Given the description of an element on the screen output the (x, y) to click on. 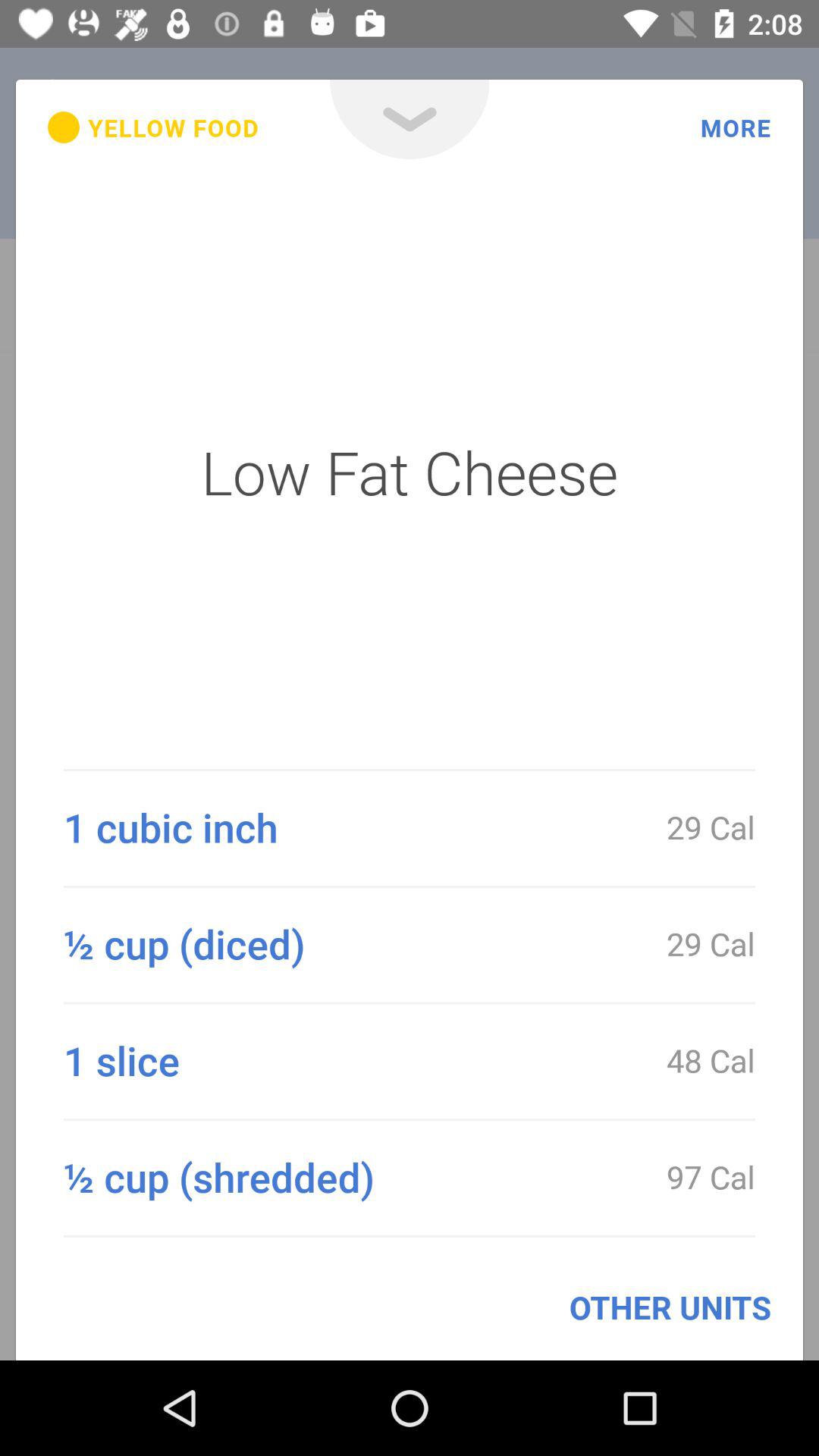
swipe down from the top of the screen (409, 119)
